Given the description of an element on the screen output the (x, y) to click on. 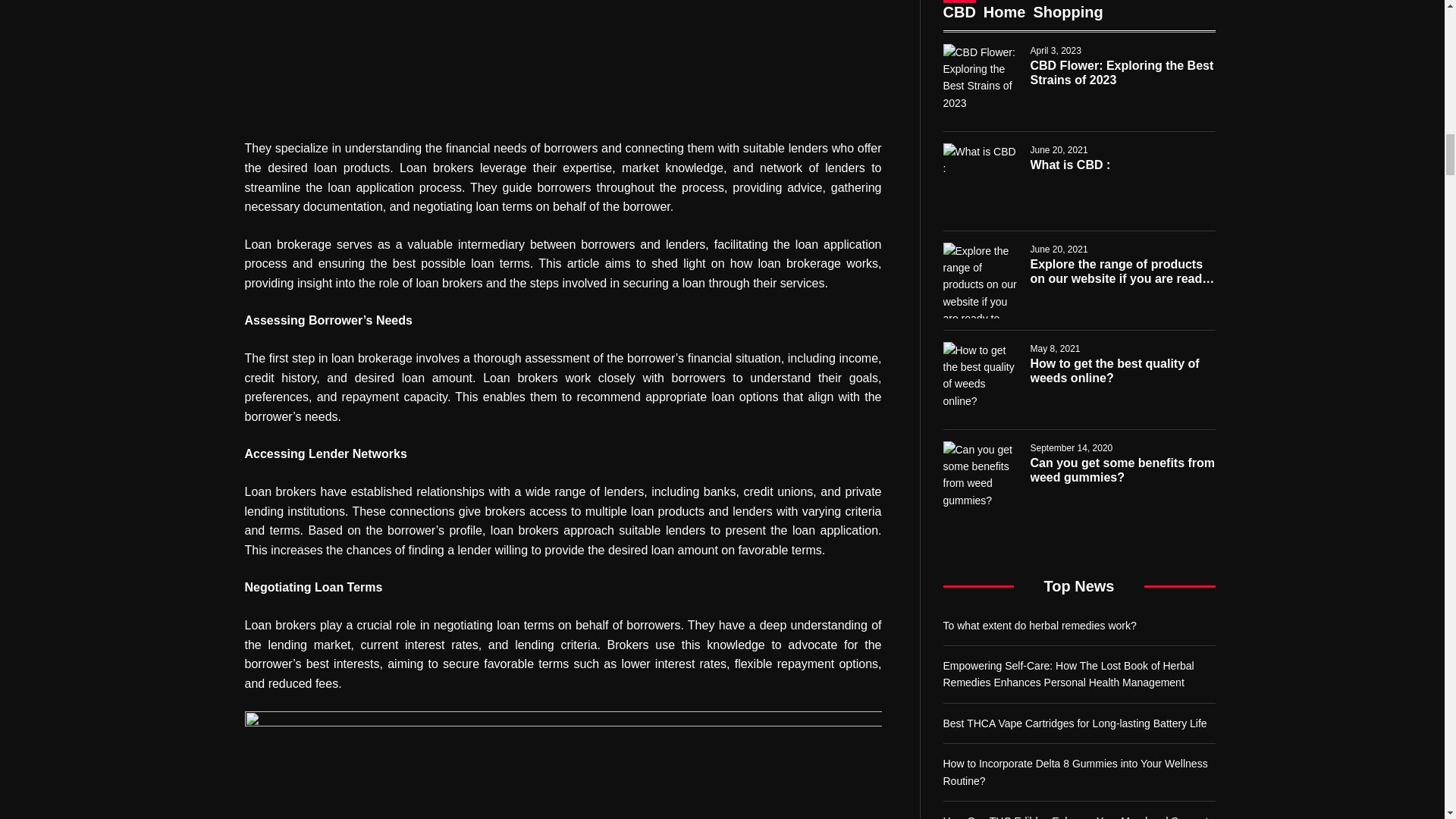
Understanding How Loan Brokerage Works (562, 60)
